Given the description of an element on the screen output the (x, y) to click on. 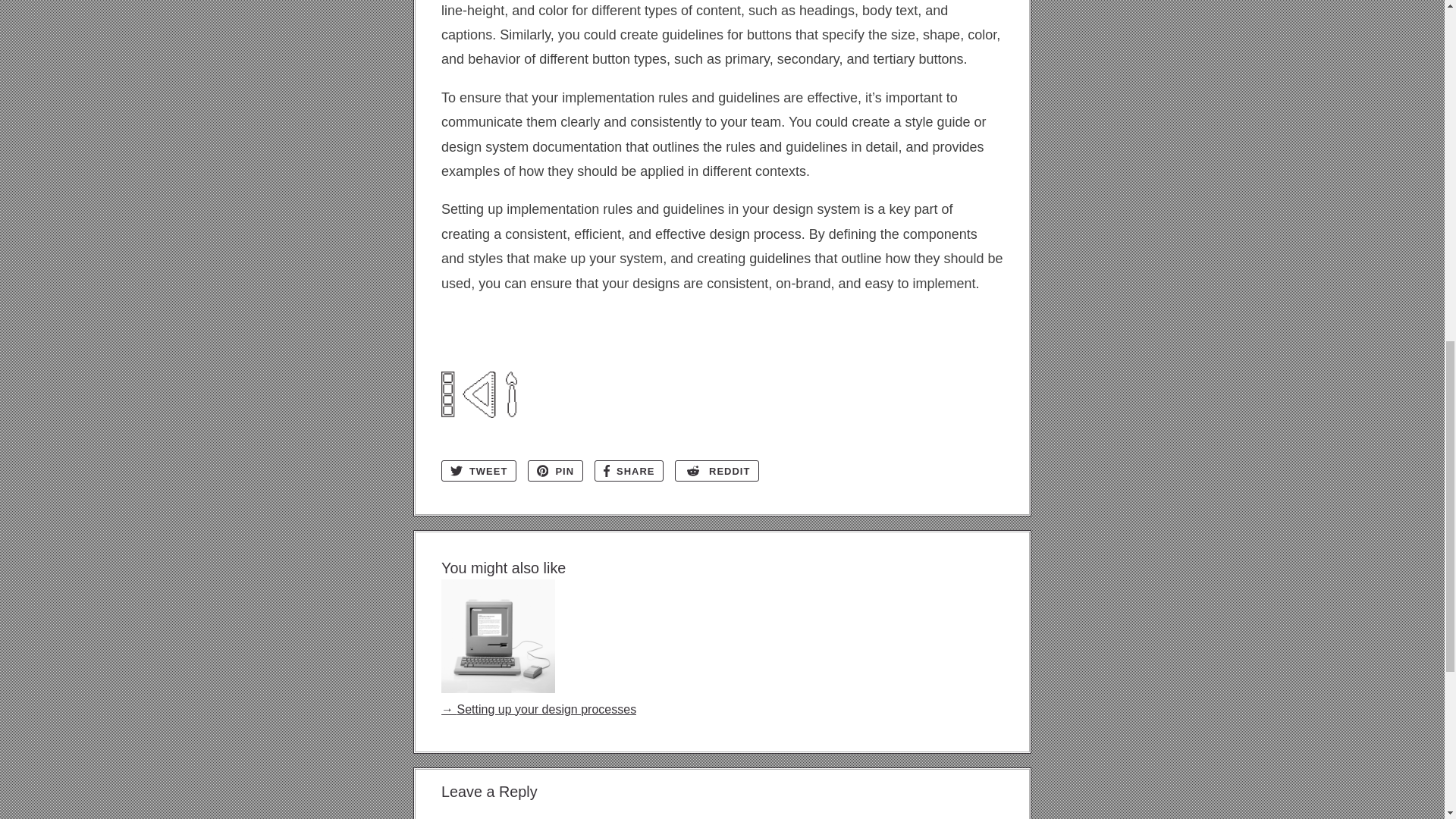
SHARE (628, 471)
PIN (555, 471)
Setting up your design processes (538, 699)
TWEET (478, 471)
REDDIT (716, 471)
Setting up your design processes (538, 699)
